Given the description of an element on the screen output the (x, y) to click on. 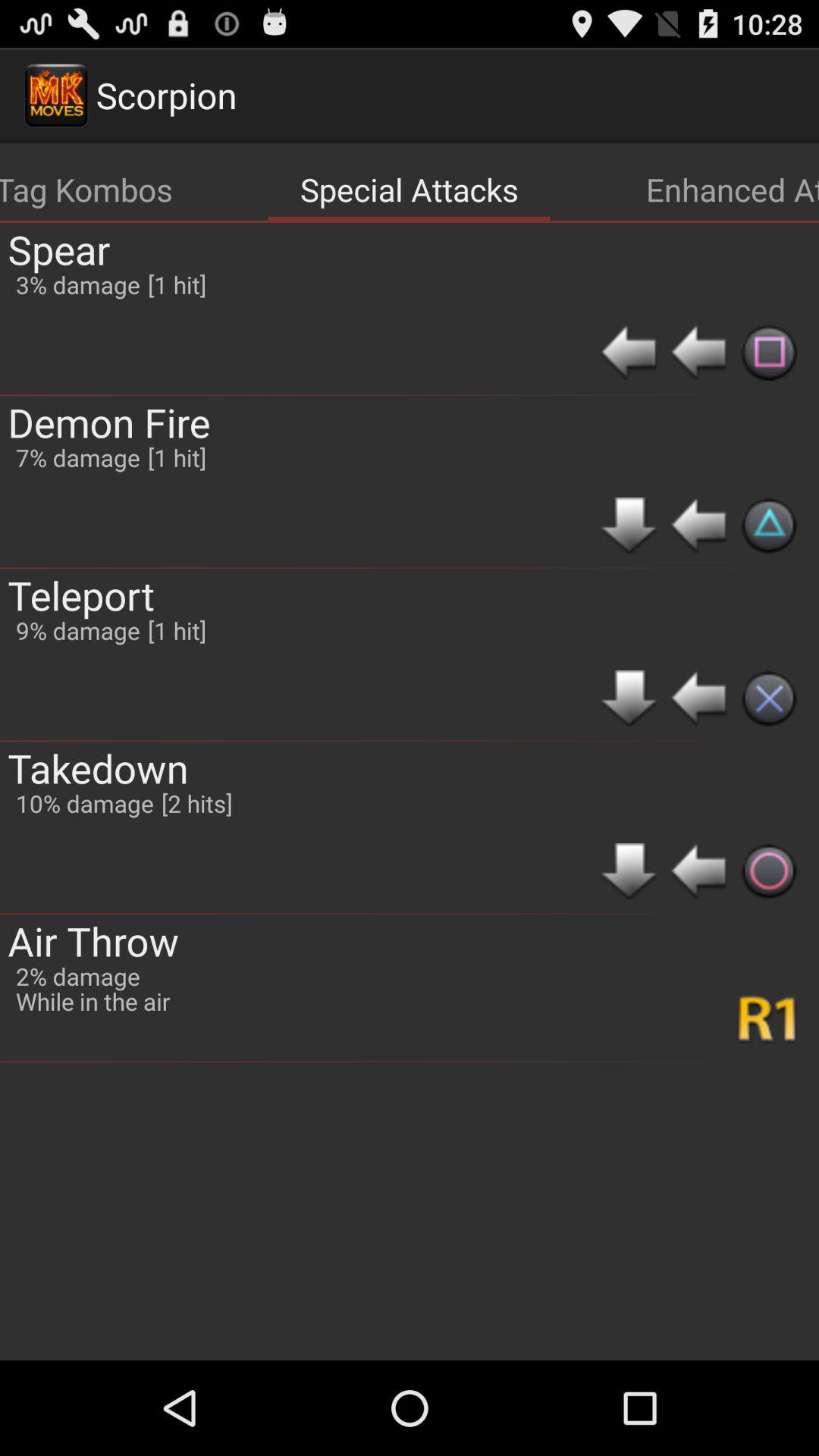
turn off item to the right of the 10% damage app (196, 803)
